Given the description of an element on the screen output the (x, y) to click on. 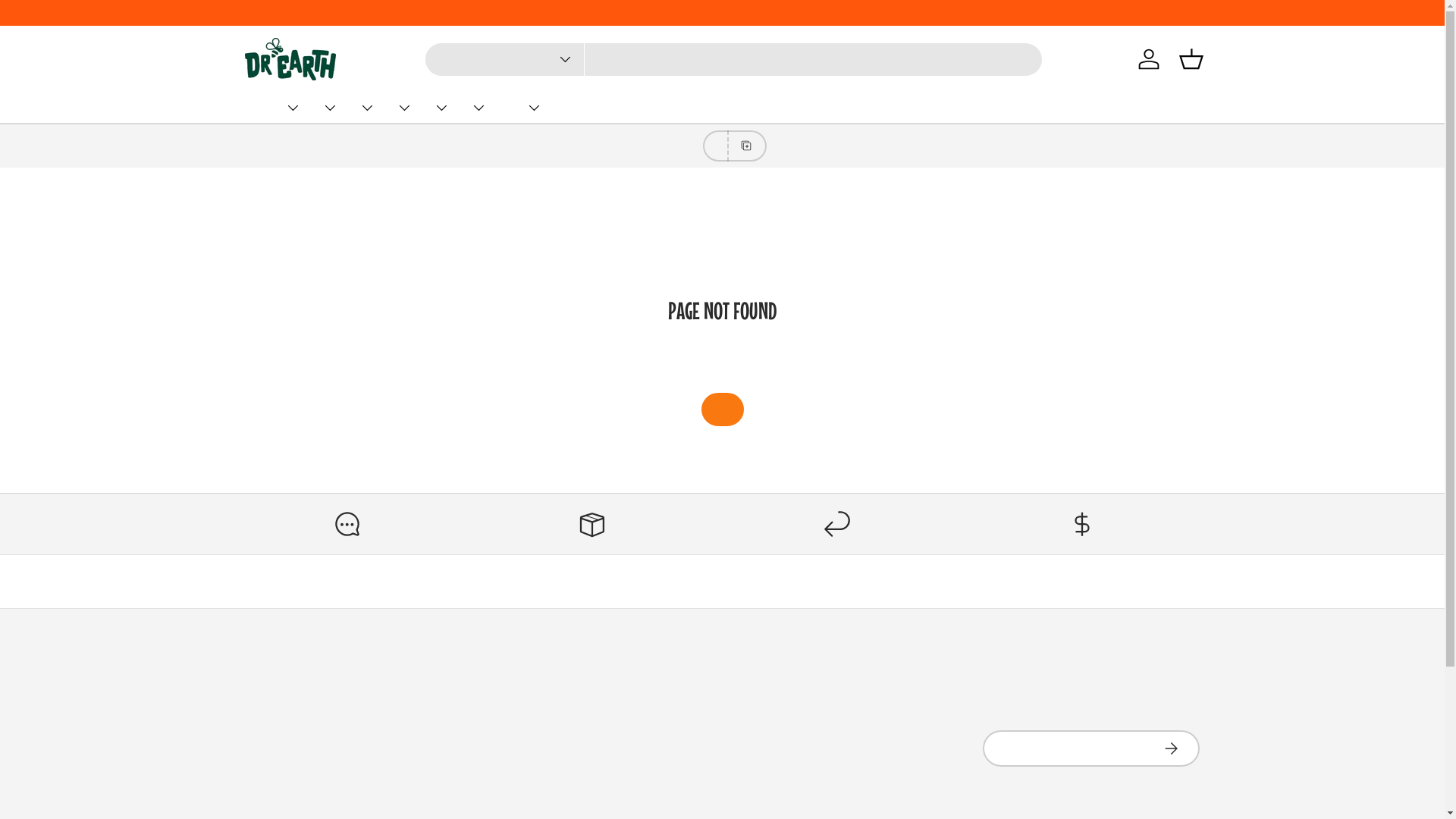
Back to top Element type: text (722, 581)
Subscribe Element type: text (1170, 748)
Log in Element type: text (1147, 58)
SUPPLEMENTS Element type: text (327, 107)
NATURAL REMEDIES Element type: text (363, 107)
FITNESS & SPORTS Element type: text (438, 107)
BODY & BEAUTY Element type: text (401, 107)
ECO HOME Element type: text (476, 107)
ABOUT US Element type: text (530, 107)
Basket Element type: text (1190, 58)
Back to home Element type: text (721, 409)
Skip to content Element type: text (68, 21)
PANTRY Element type: text (289, 107)
Copy code Element type: text (745, 145)
